Given the description of an element on the screen output the (x, y) to click on. 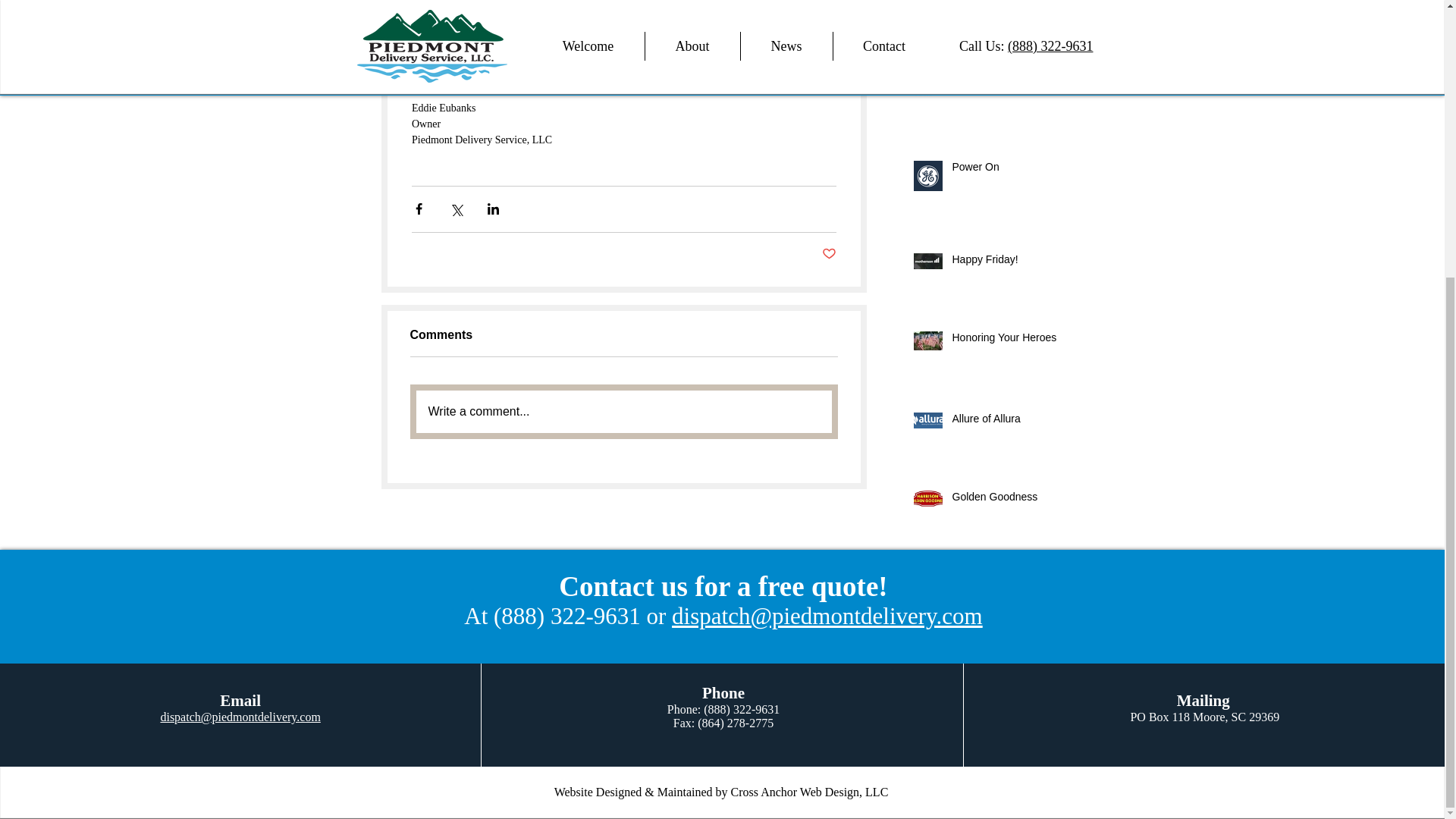
Happy Friday! (1006, 262)
Golden Goodness (1006, 500)
Tee it High, Let it Fly (1006, 92)
Write a comment... (622, 411)
Honoring Your Heroes (1006, 341)
Healthy Happiness (1006, 14)
Allure of Allura (1006, 422)
Power On (1006, 169)
Post not marked as liked (828, 254)
